Given the description of an element on the screen output the (x, y) to click on. 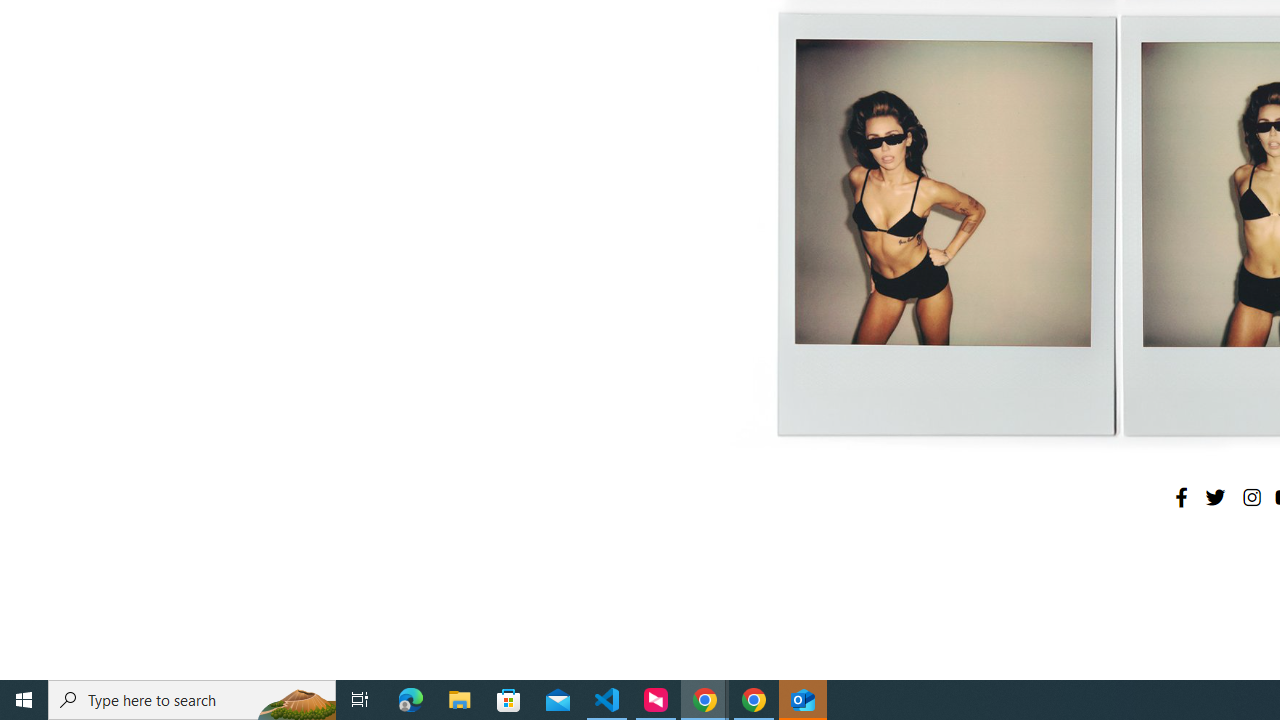
Facebook (1181, 497)
Instagram (1251, 497)
